Given the description of an element on the screen output the (x, y) to click on. 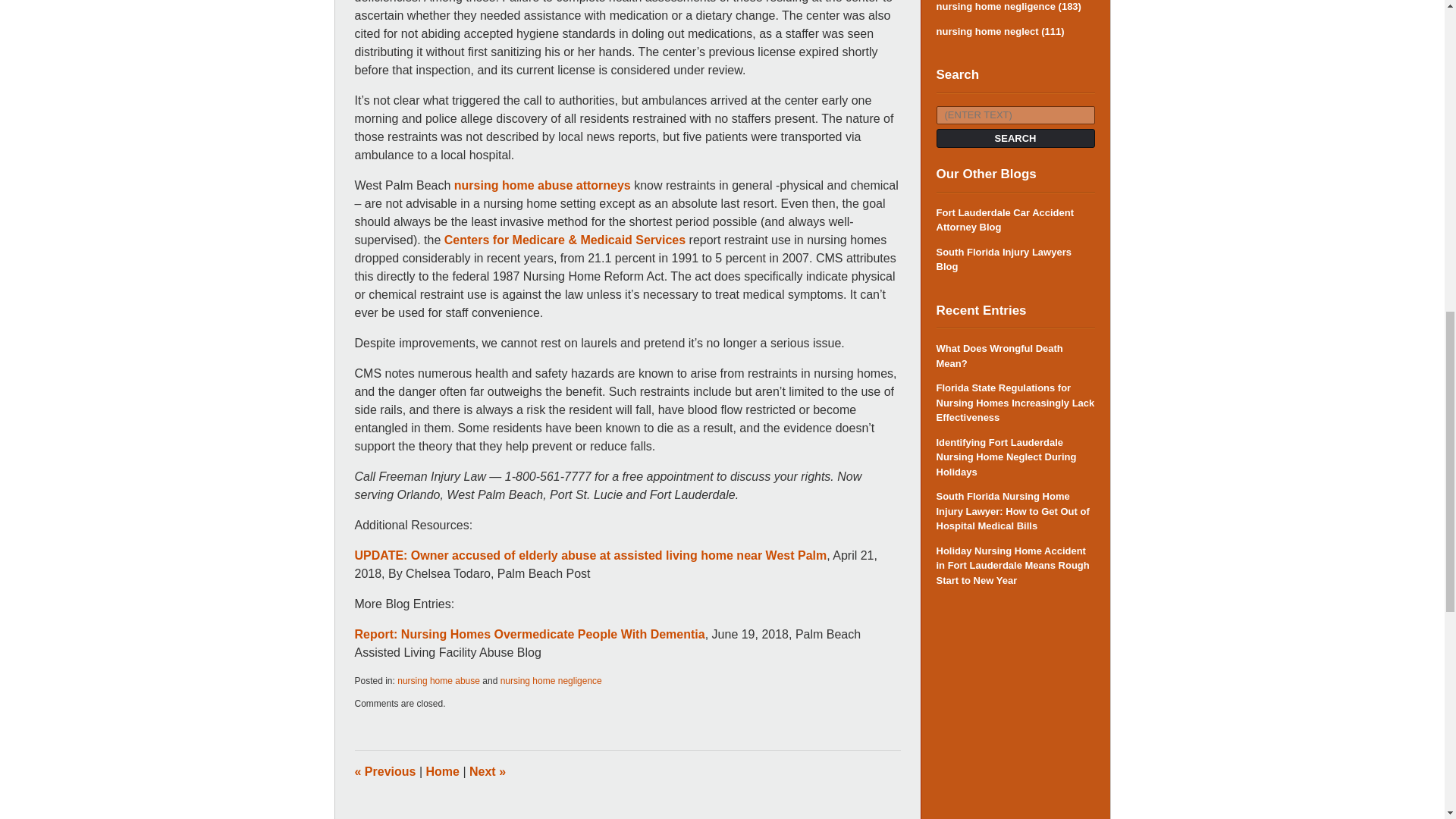
View all posts in nursing home negligence (551, 680)
Home (443, 771)
View all posts in nursing home abuse (438, 680)
nursing home negligence (551, 680)
Report: Nursing Homes Overmedicate People With Dementia (529, 634)
nursing home abuse (438, 680)
